Given the description of an element on the screen output the (x, y) to click on. 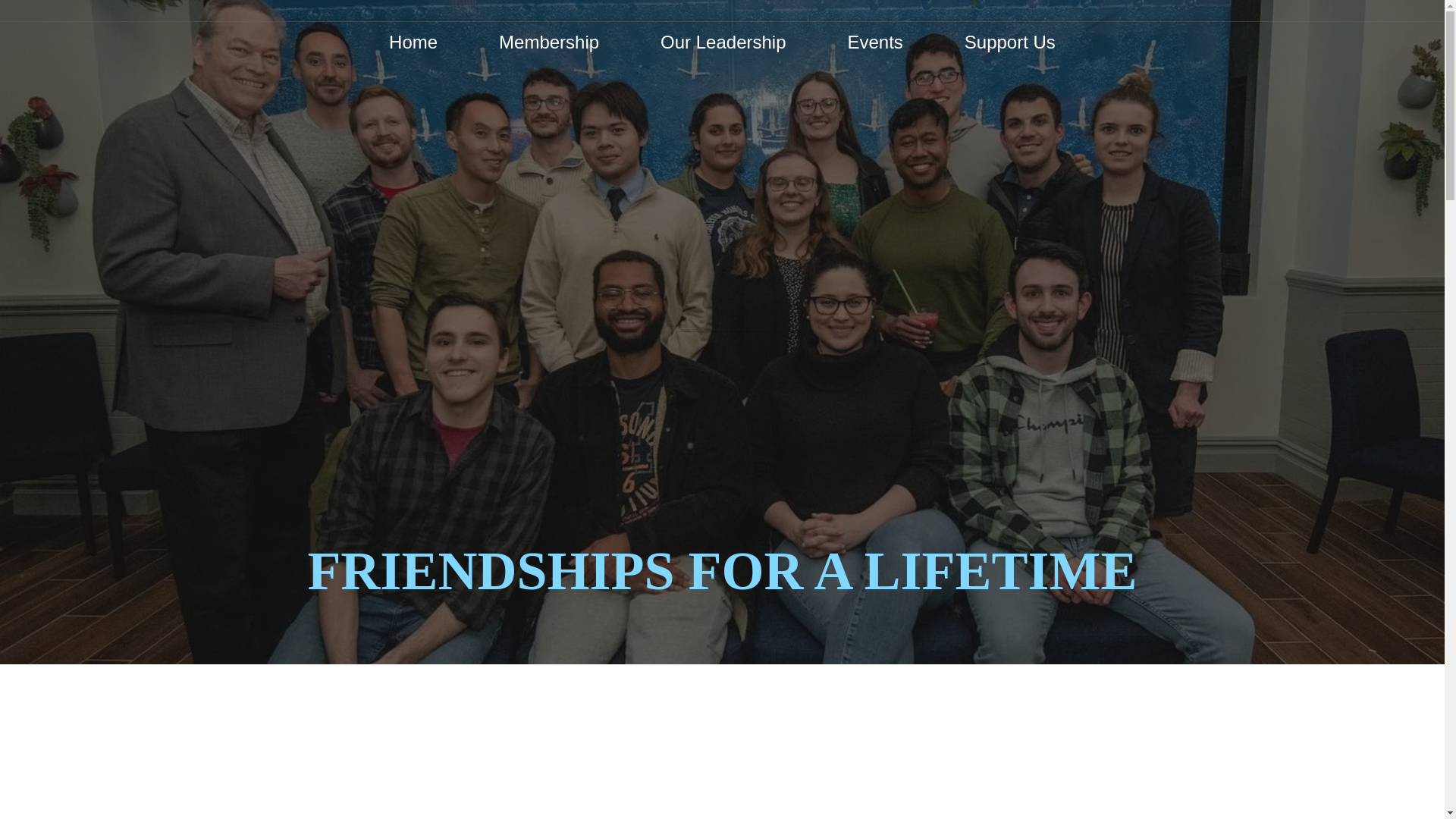
Support Us (1009, 42)
Home (413, 42)
Membership (548, 42)
Events (874, 42)
Our Leadership (723, 42)
